Given the description of an element on the screen output the (x, y) to click on. 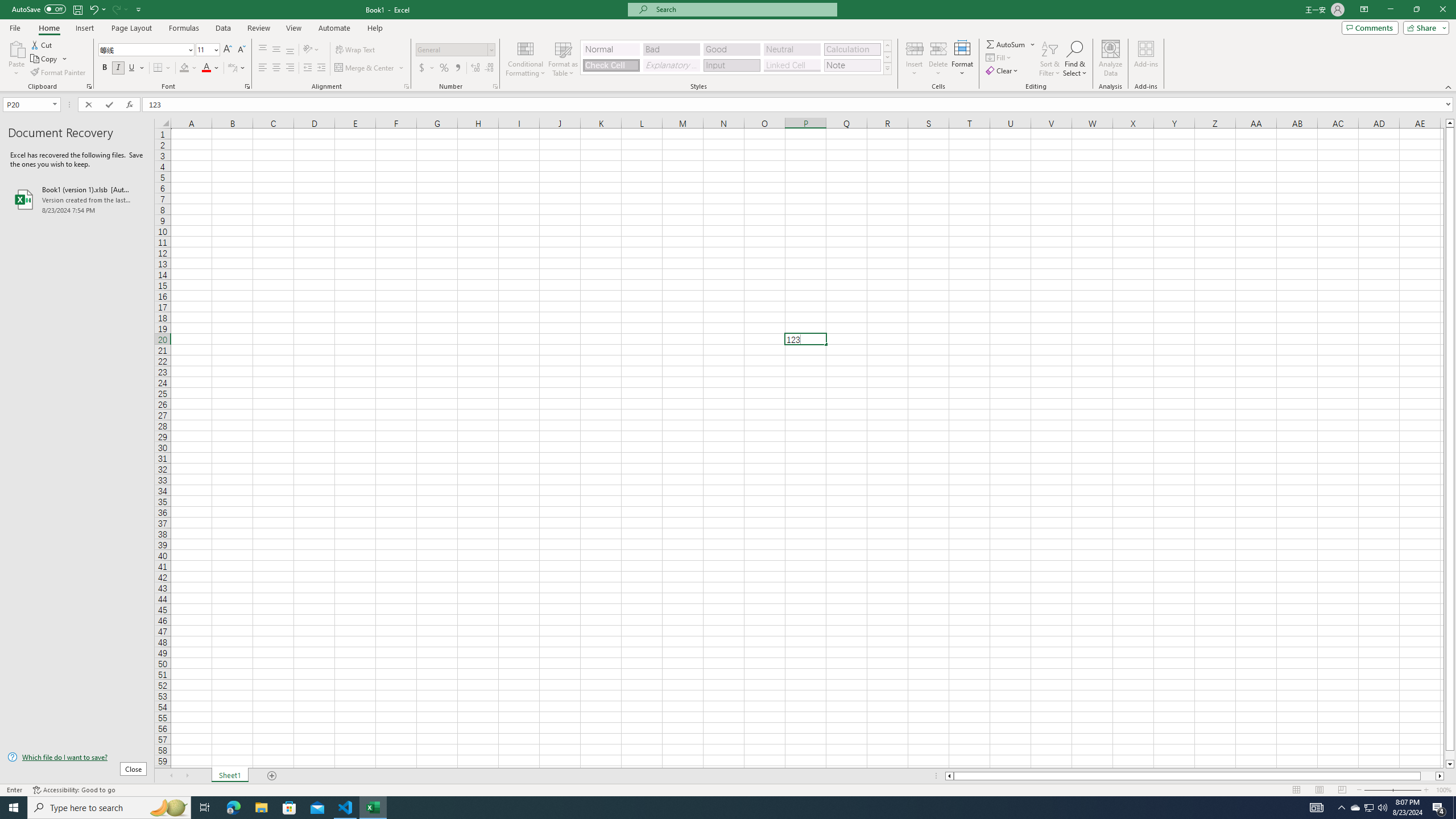
Accounting Number Format (422, 67)
Decrease Decimal (489, 67)
Office Clipboard... (88, 85)
Show Phonetic Field (236, 67)
Font (147, 49)
Center (276, 67)
Good (731, 49)
Font Size (204, 49)
Align Left (262, 67)
Increase Font Size (227, 49)
